Given the description of an element on the screen output the (x, y) to click on. 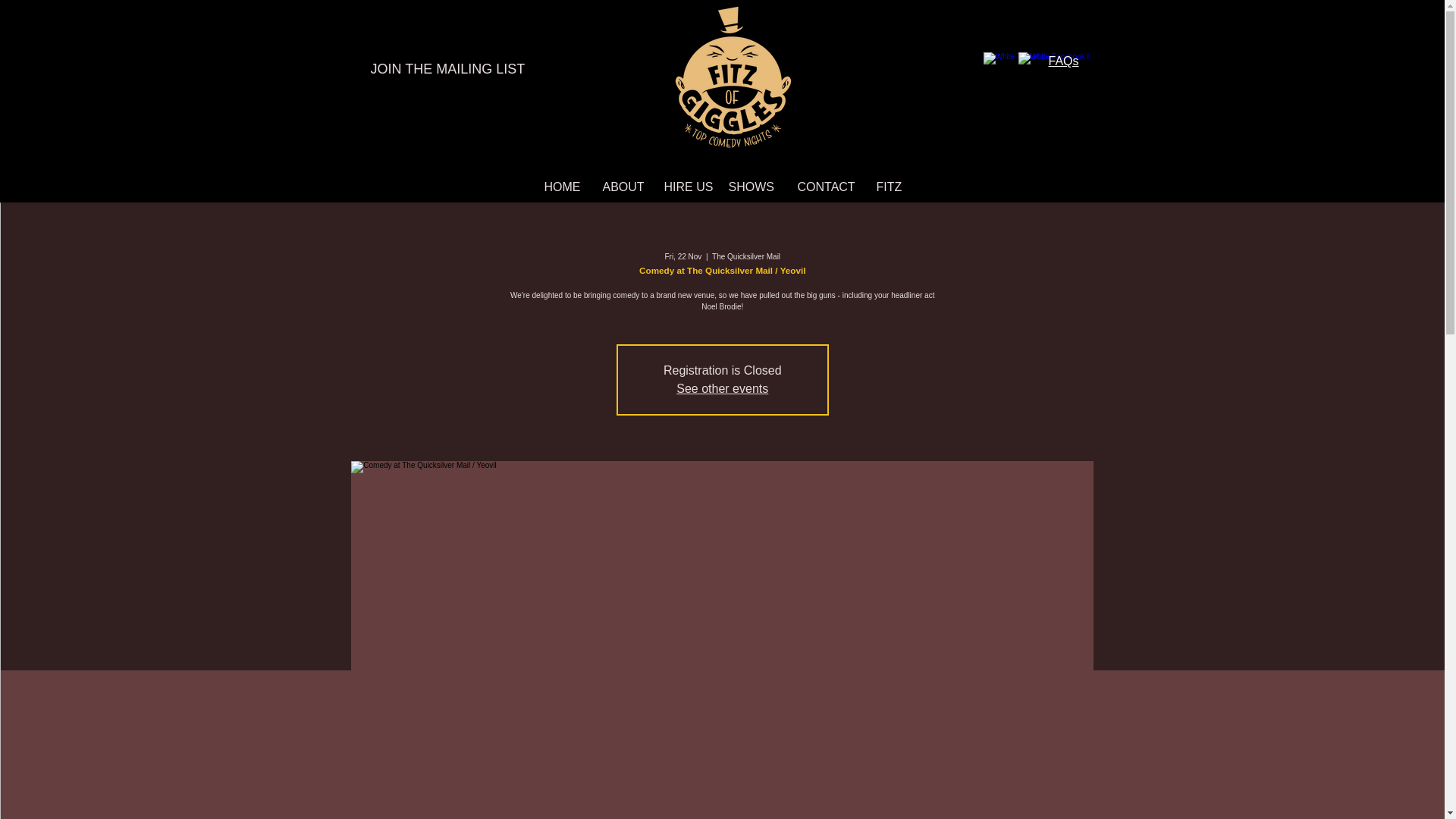
FITZ (885, 187)
ABOUT (621, 187)
JOIN THE MAILING LIST (450, 69)
SHOWS (751, 187)
HIRE US (684, 187)
FAQs (1063, 60)
HOME (561, 187)
See other events (722, 388)
CONTACT (825, 187)
